Given the description of an element on the screen output the (x, y) to click on. 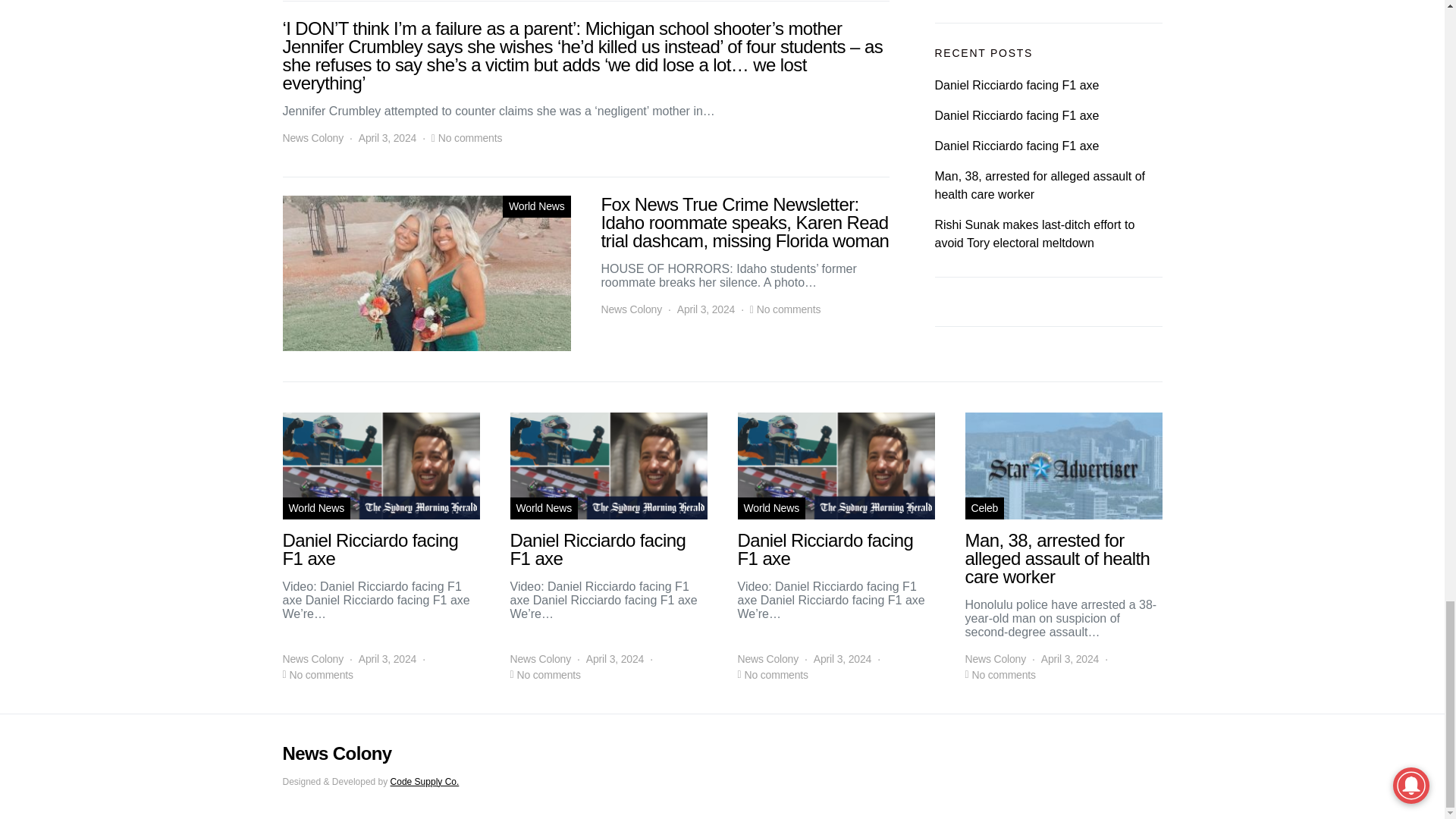
View all posts by News Colony (312, 659)
View all posts by News Colony (312, 138)
View all posts by News Colony (994, 659)
View all posts by News Colony (766, 659)
View all posts by News Colony (630, 309)
View all posts by News Colony (539, 659)
